Given the description of an element on the screen output the (x, y) to click on. 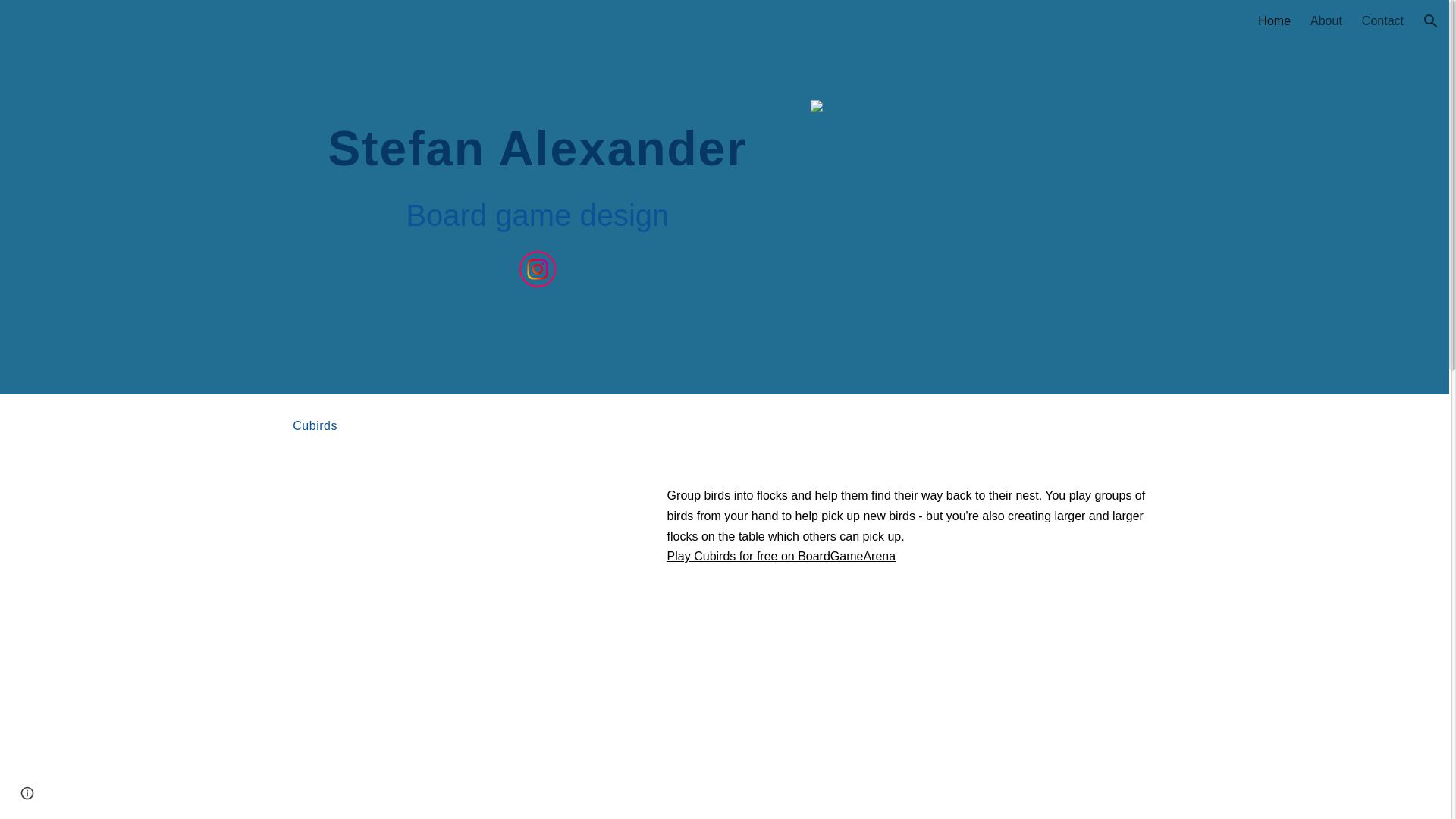
About (1326, 20)
Home (1273, 20)
Contact (1382, 20)
Play Cubirds for free on BoardGameArena (780, 555)
